Given the description of an element on the screen output the (x, y) to click on. 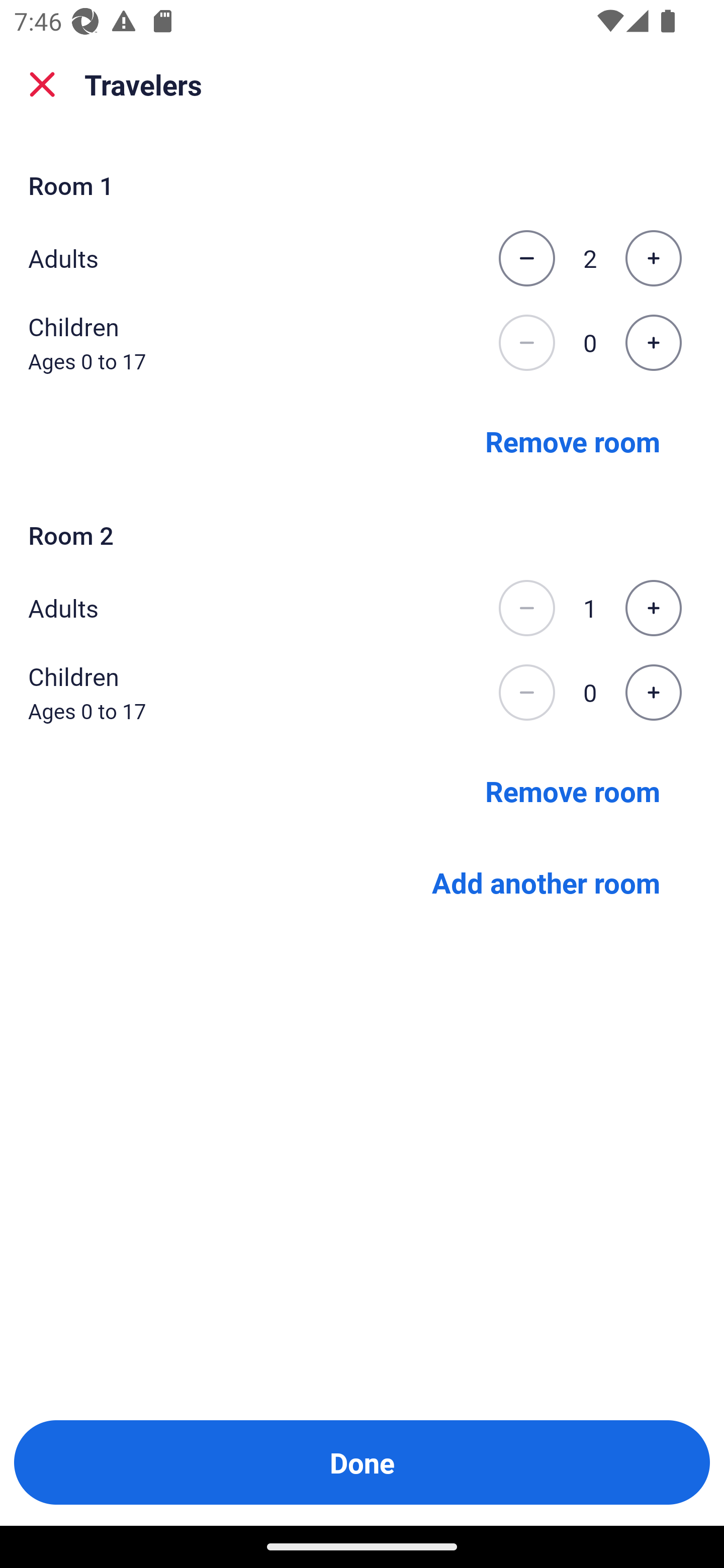
close (42, 84)
Decrease the number of adults (526, 258)
Increase the number of adults (653, 258)
Decrease the number of children (526, 343)
Increase the number of children (653, 343)
Remove room (572, 440)
Decrease the number of adults (526, 608)
Increase the number of adults (653, 608)
Decrease the number of children (526, 692)
Increase the number of children (653, 692)
Remove room (572, 790)
Add another room (545, 882)
Done (361, 1462)
